Given the description of an element on the screen output the (x, y) to click on. 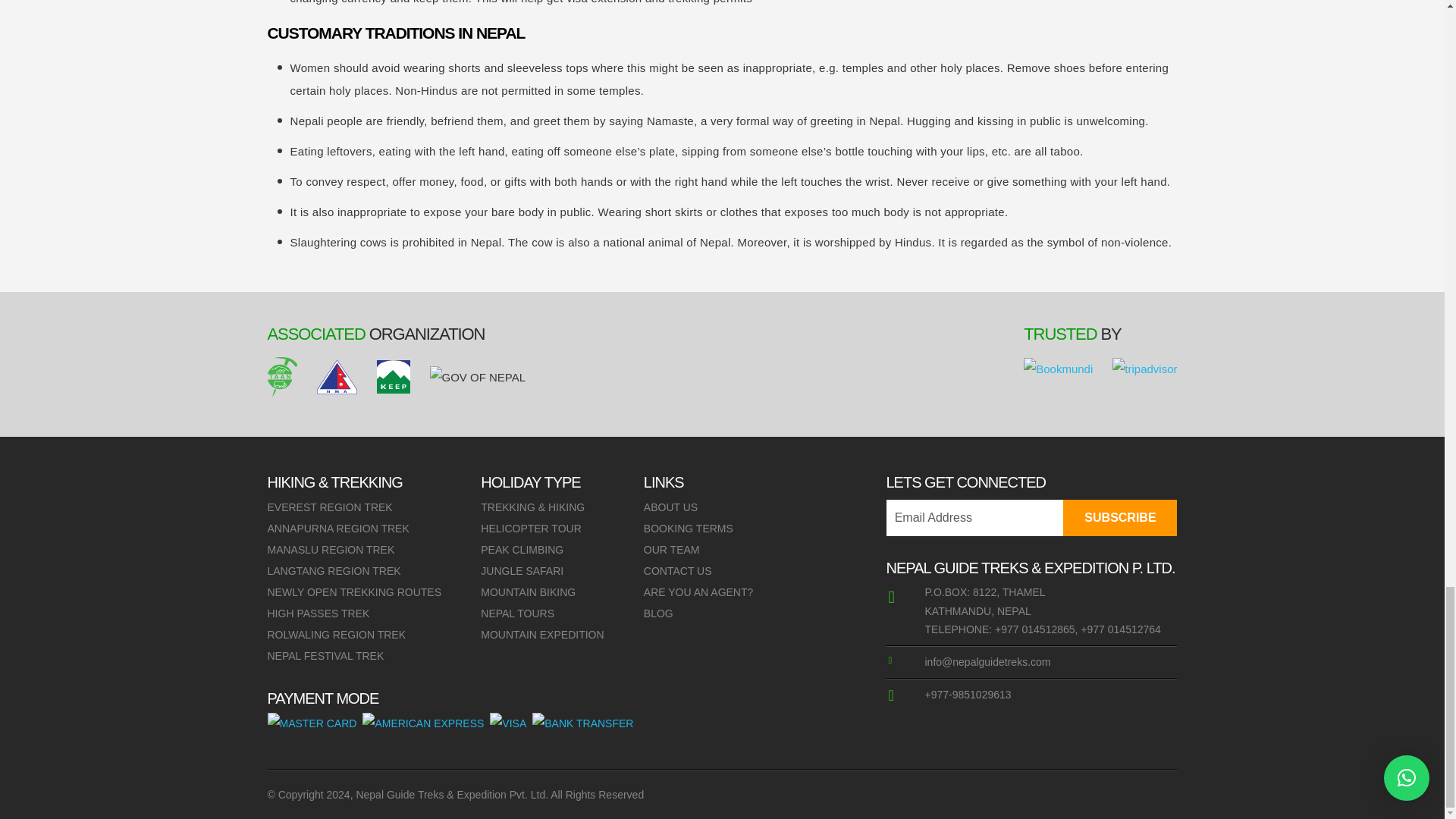
Goverment of Nepal (477, 377)
Subscribe (1119, 517)
Bank Transfer (582, 722)
Nepal Mountaineering Association (336, 376)
Kathmandu Enviromental Education Project (392, 376)
